Given the description of an element on the screen output the (x, y) to click on. 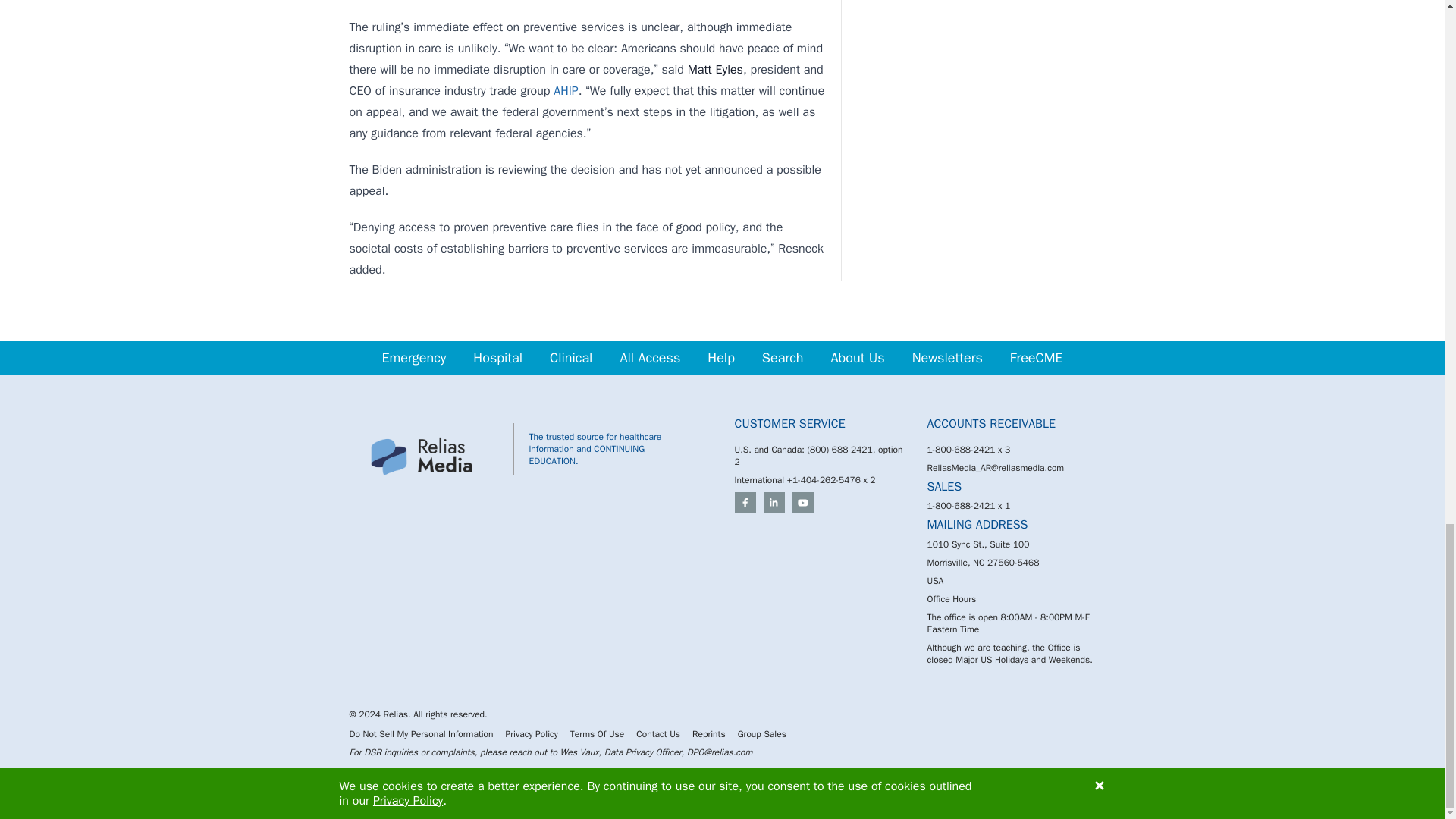
Facebook (744, 502)
YouTube (802, 502)
LinkedIn (773, 502)
